Given the description of an element on the screen output the (x, y) to click on. 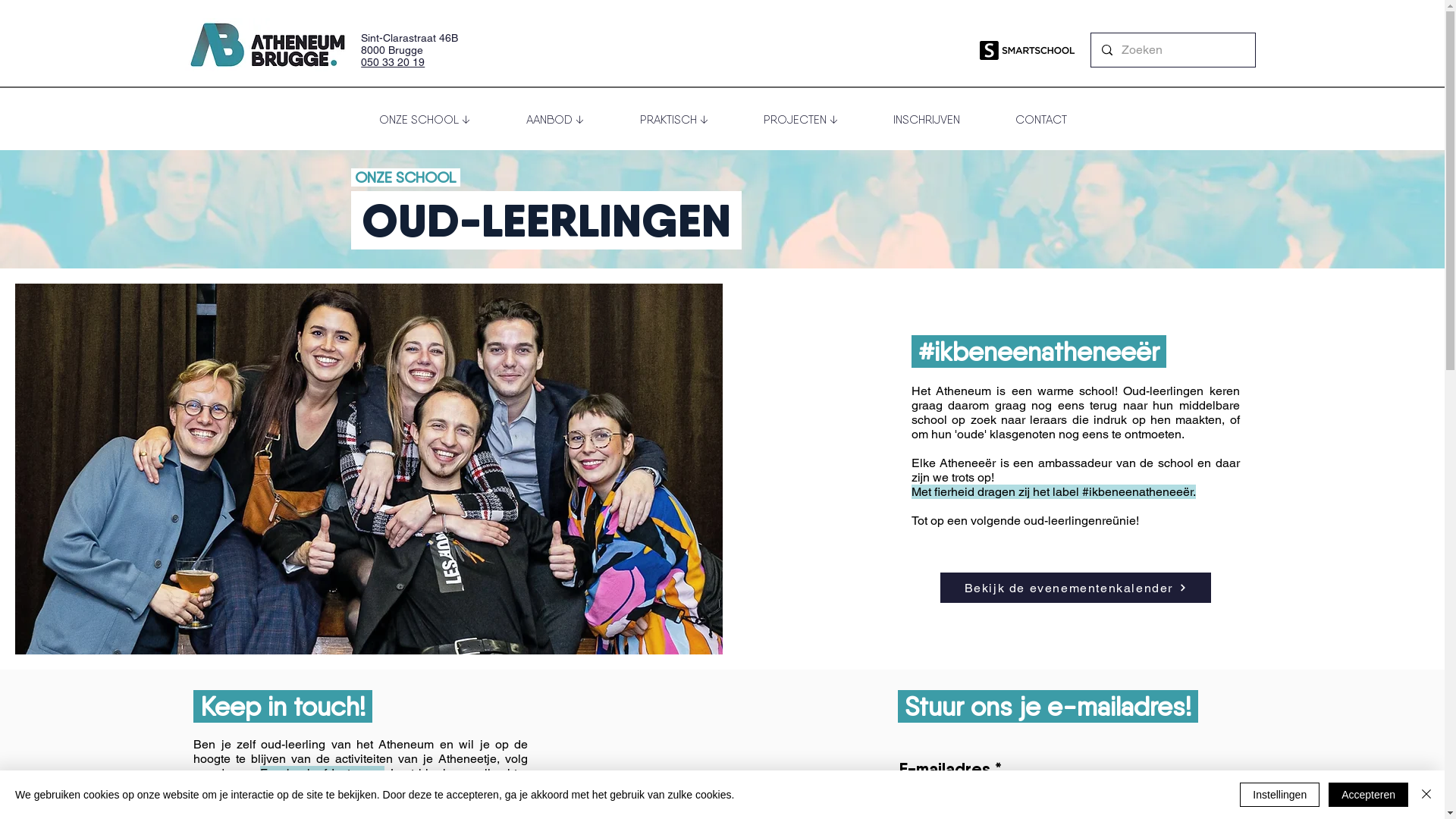
Accepteren Element type: text (1368, 794)
INSCHRIJVEN Element type: text (927, 120)
050 33 20 19 Element type: text (392, 62)
Bekijk de evenementenkalender Element type: text (1075, 587)
Instellingen Element type: text (1279, 794)
CONTACT Element type: text (1040, 120)
